Given the description of an element on the screen output the (x, y) to click on. 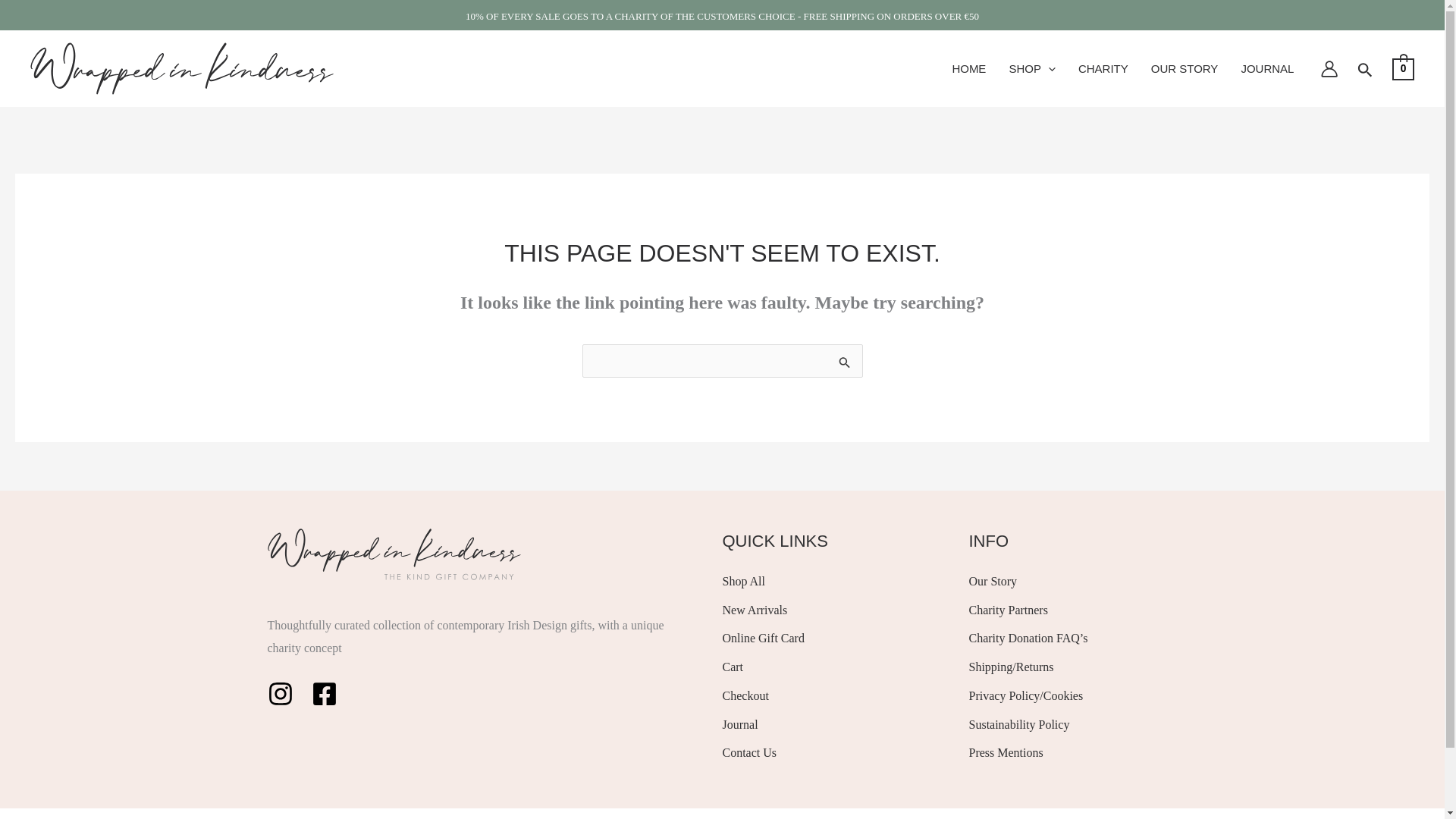
OUR STORY (1185, 68)
JOURNAL (1266, 68)
Search (844, 361)
CHARITY (1103, 68)
0 (1402, 68)
Search (844, 361)
Search (844, 361)
SHOP (1032, 68)
